Given the description of an element on the screen output the (x, y) to click on. 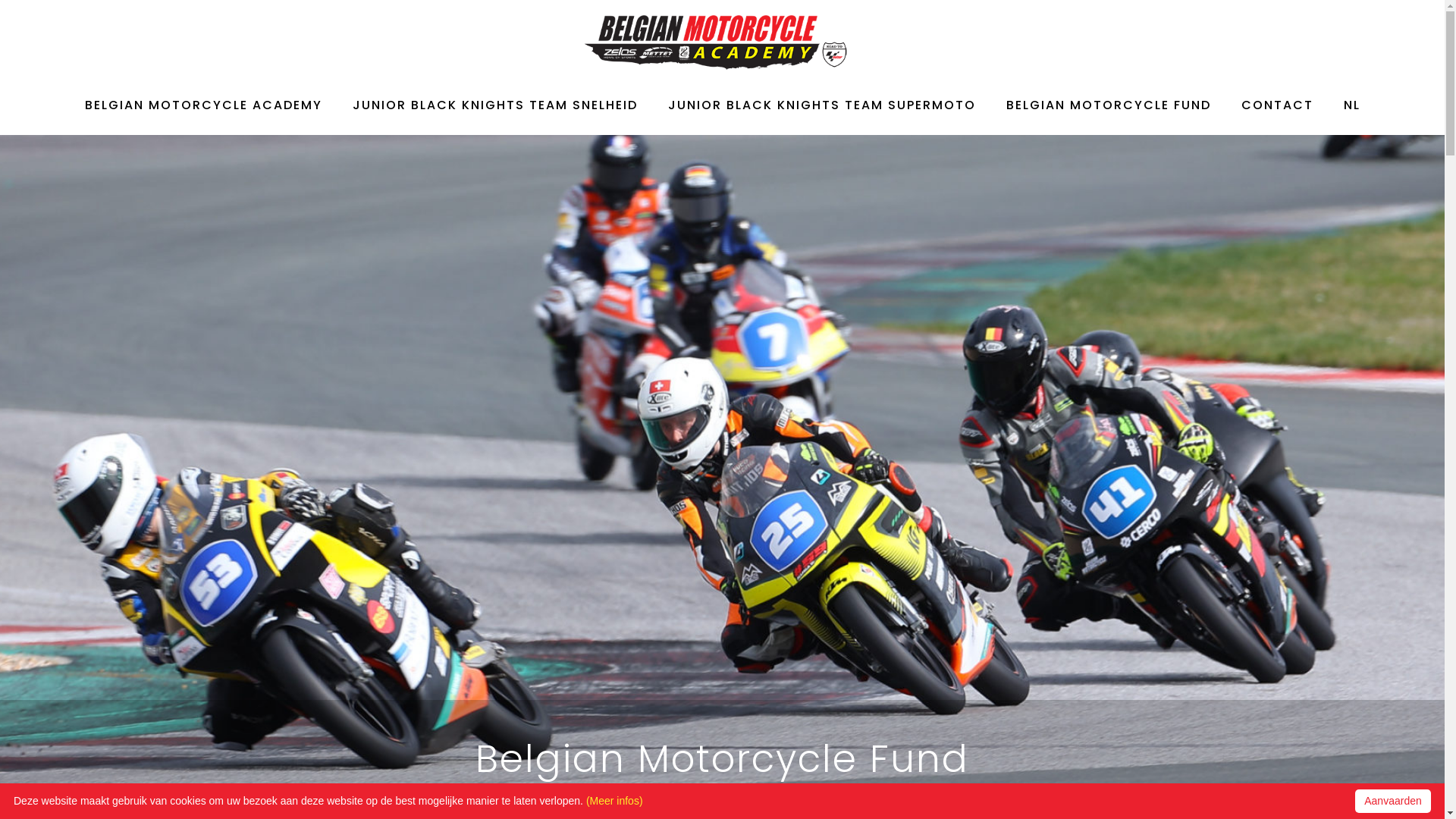
JUNIOR BLACK KNIGHTS TEAM SNELHEID Element type: text (494, 107)
BELGIAN MOTORCYCLE FUND Element type: text (1107, 107)
CONTACT Element type: text (1276, 107)
JUNIOR BLACK KNIGHTS TEAM SUPERMOTO Element type: text (821, 107)
BELGIAN MOTORCYCLE ACADEMY Element type: text (203, 107)
 Belgian Motorcycle Academy Element type: hover (716, 40)
(Meer infos) Element type: text (614, 800)
NL Element type: text (1351, 107)
